Given the description of an element on the screen output the (x, y) to click on. 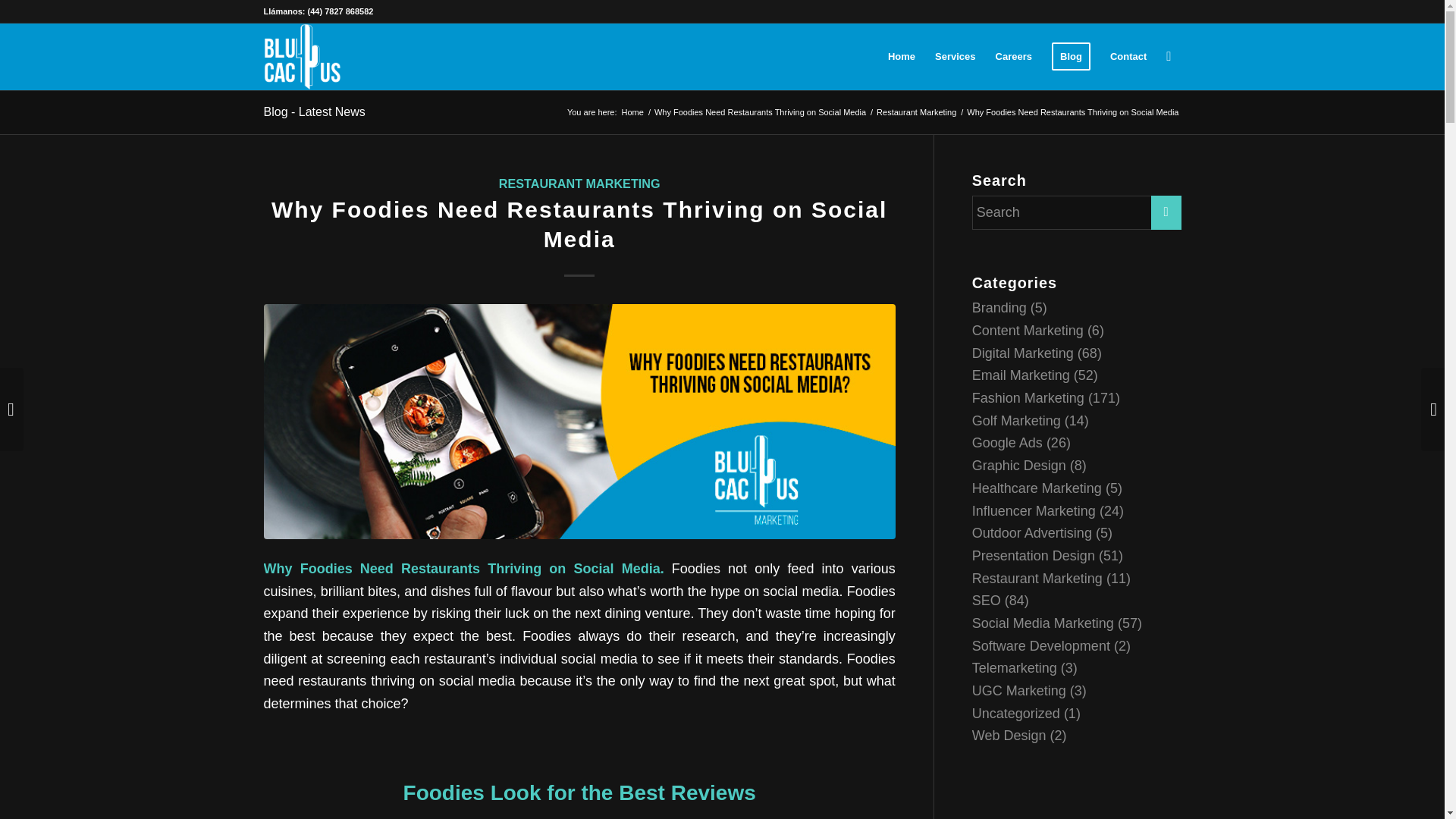
Why Foodies Need Restaurants Thriving on Social Media (759, 112)
RESTAURANT MARKETING (580, 183)
Blog - Latest News (314, 111)
Permanent Link: Blog - Latest News (314, 111)
BluCactus United Kingdom (633, 112)
Why Foodies Need Restaurants Thriving on Social Media (759, 112)
Services (954, 56)
Restaurant Marketing (916, 112)
Home (633, 112)
